Given the description of an element on the screen output the (x, y) to click on. 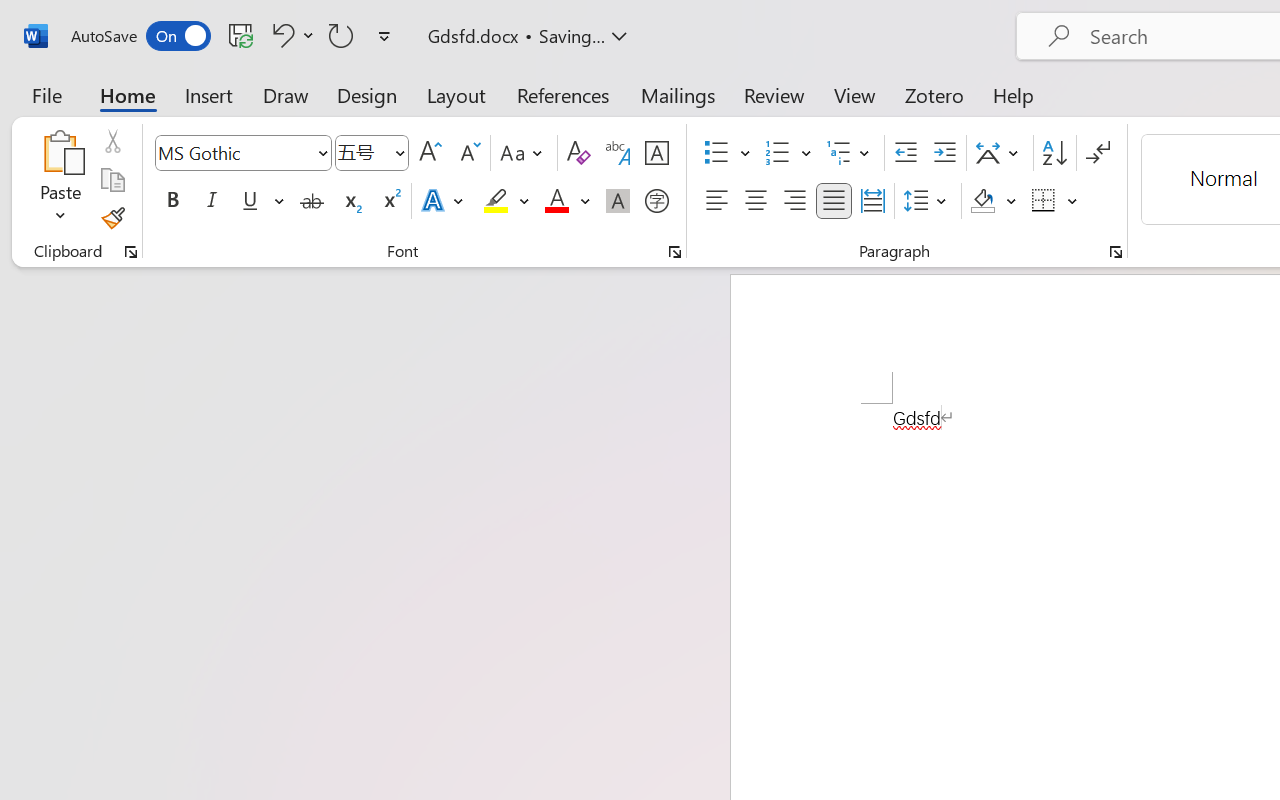
Office Clipboard... (131, 252)
Justify (834, 201)
Font Color Red (556, 201)
Enclose Characters... (656, 201)
Font Color (567, 201)
Shading RGB(0, 0, 0) (982, 201)
Shading (993, 201)
